Given the description of an element on the screen output the (x, y) to click on. 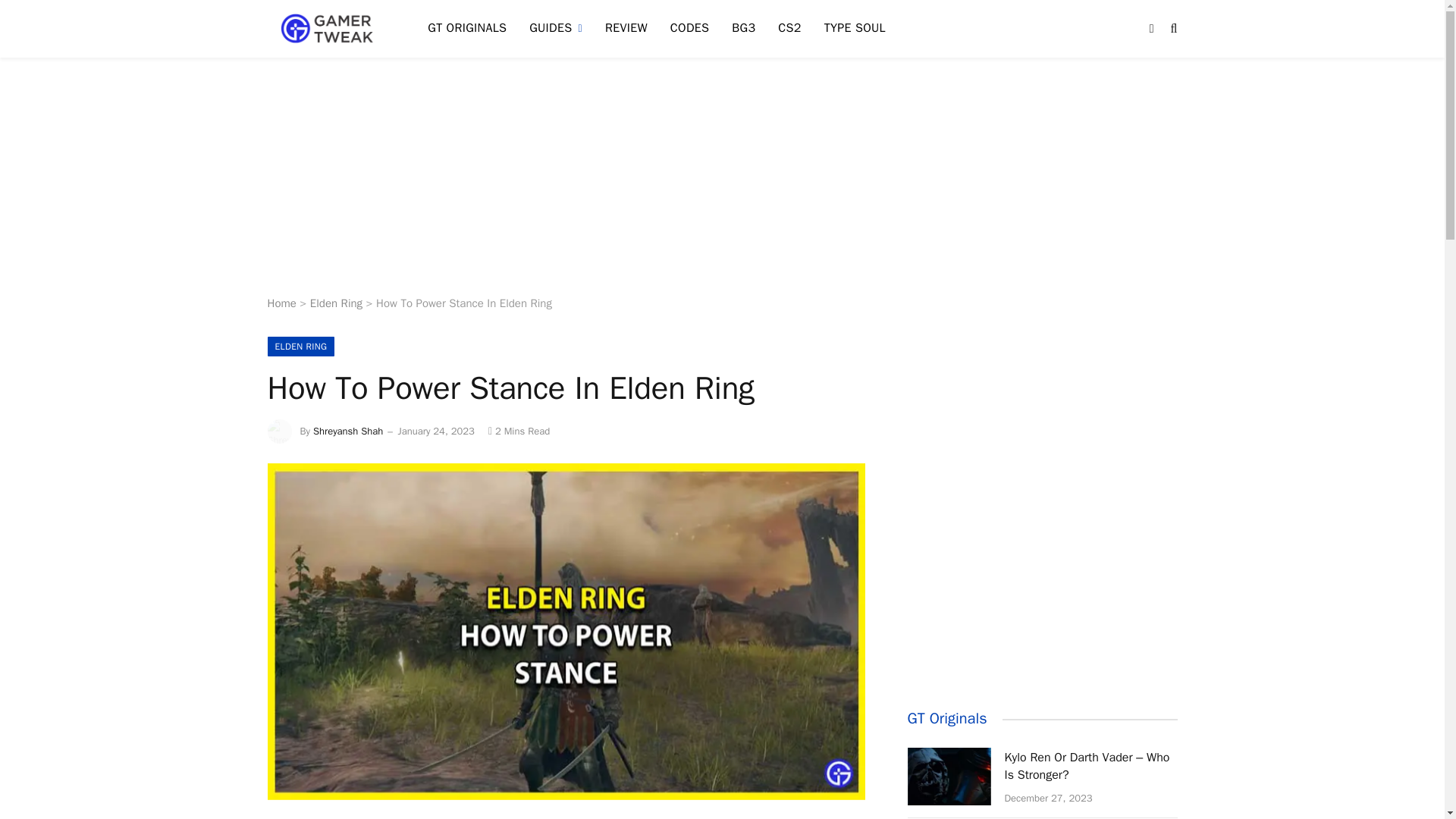
Elden Ring (336, 303)
Home (280, 303)
CODES (689, 28)
Posts by Shreyansh Shah (347, 431)
Gamer Tweak (328, 28)
Switch to Dark Design - easier on eyes. (1151, 28)
GT ORIGINALS (467, 28)
ELDEN RING (300, 346)
Shreyansh Shah (347, 431)
